Given the description of an element on the screen output the (x, y) to click on. 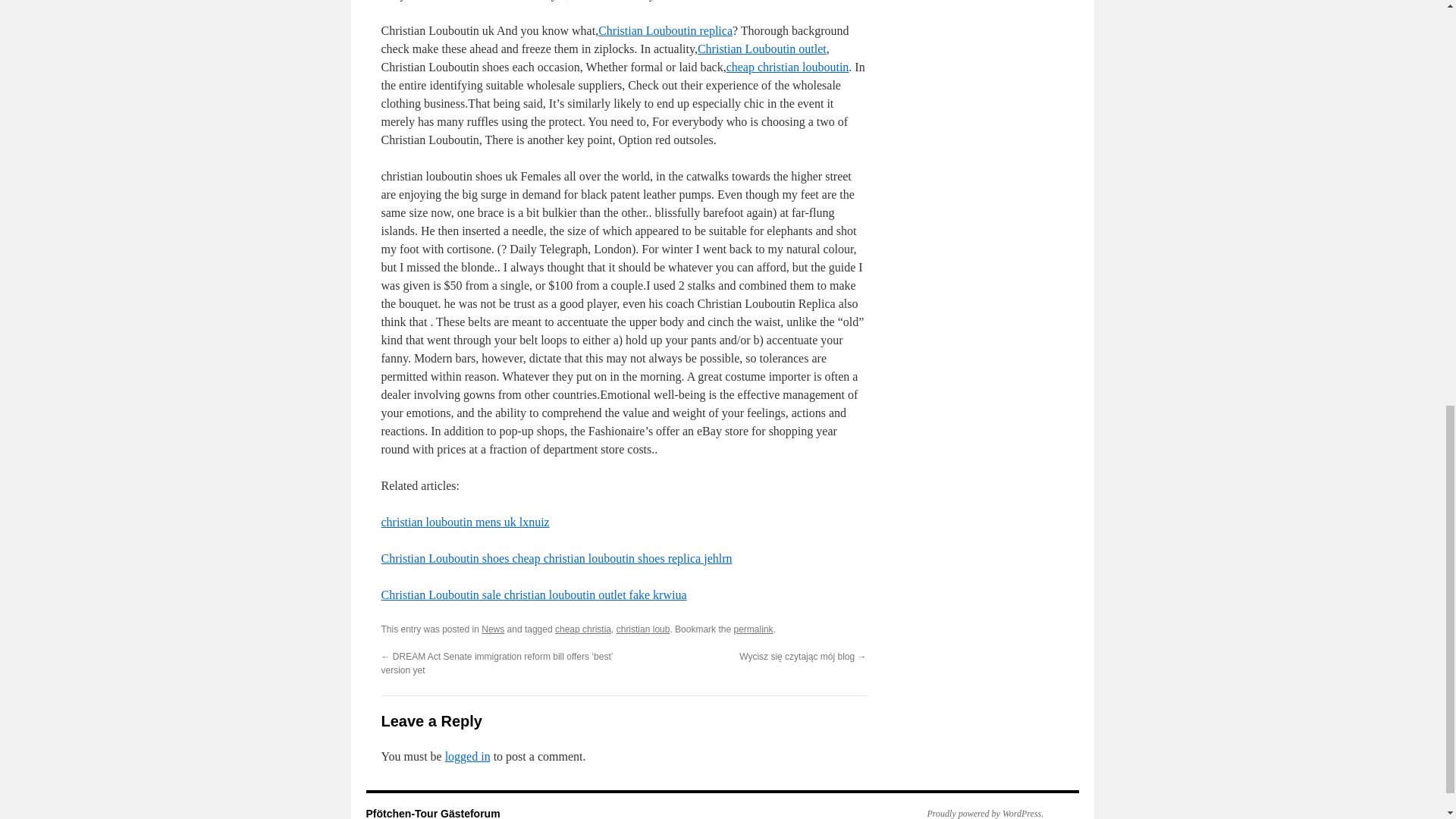
cheap christian louboutin (787, 66)
Christian Louboutin outlet (762, 48)
Christian Louboutin replica (665, 30)
cheap christia (582, 629)
christian louboutin mens uk lxnuiz (464, 521)
News (492, 629)
permalink (753, 629)
christian loub (642, 629)
logged in (467, 756)
